Given the description of an element on the screen output the (x, y) to click on. 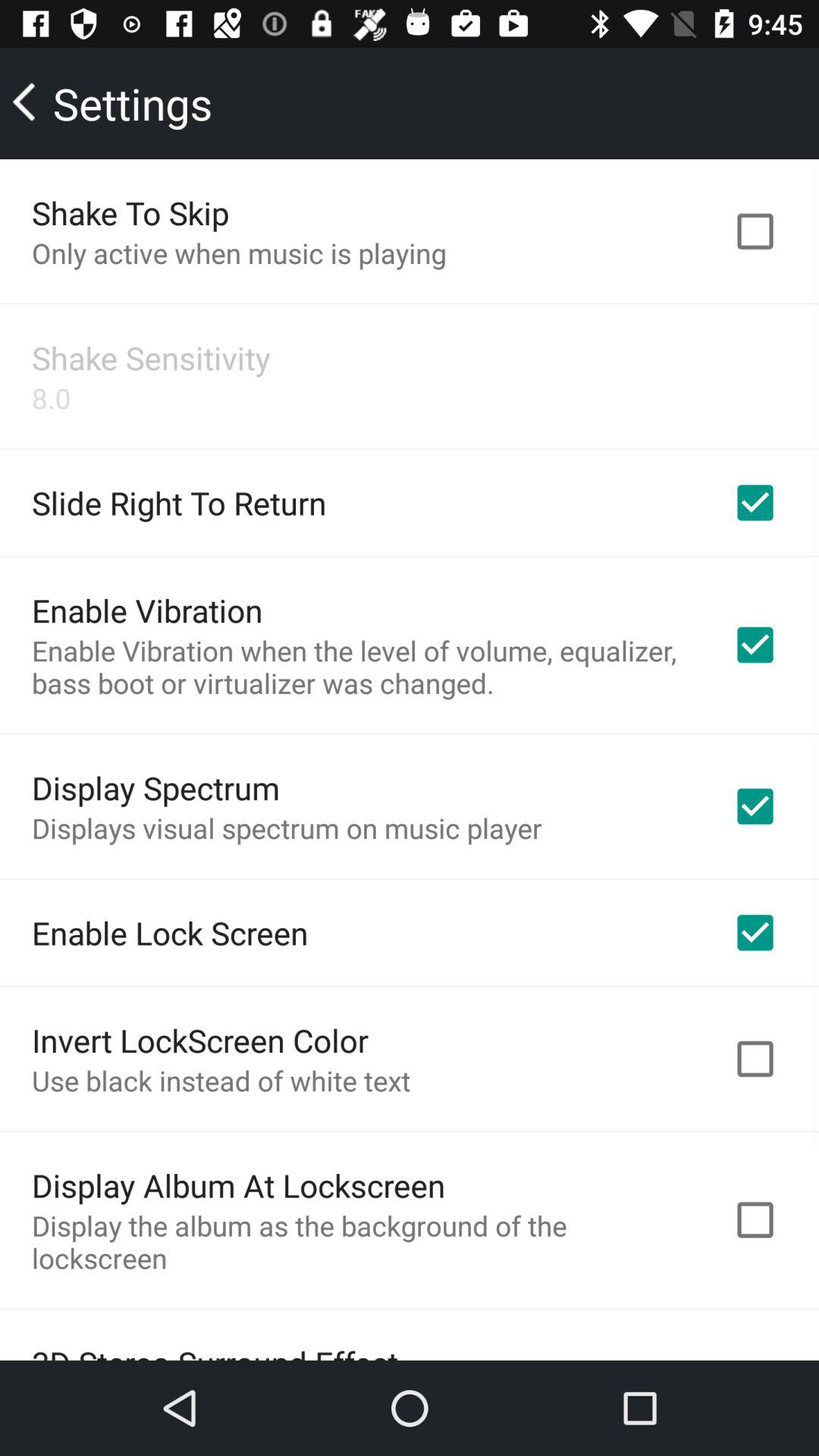
press the icon above the enable lock screen item (286, 827)
